Given the description of an element on the screen output the (x, y) to click on. 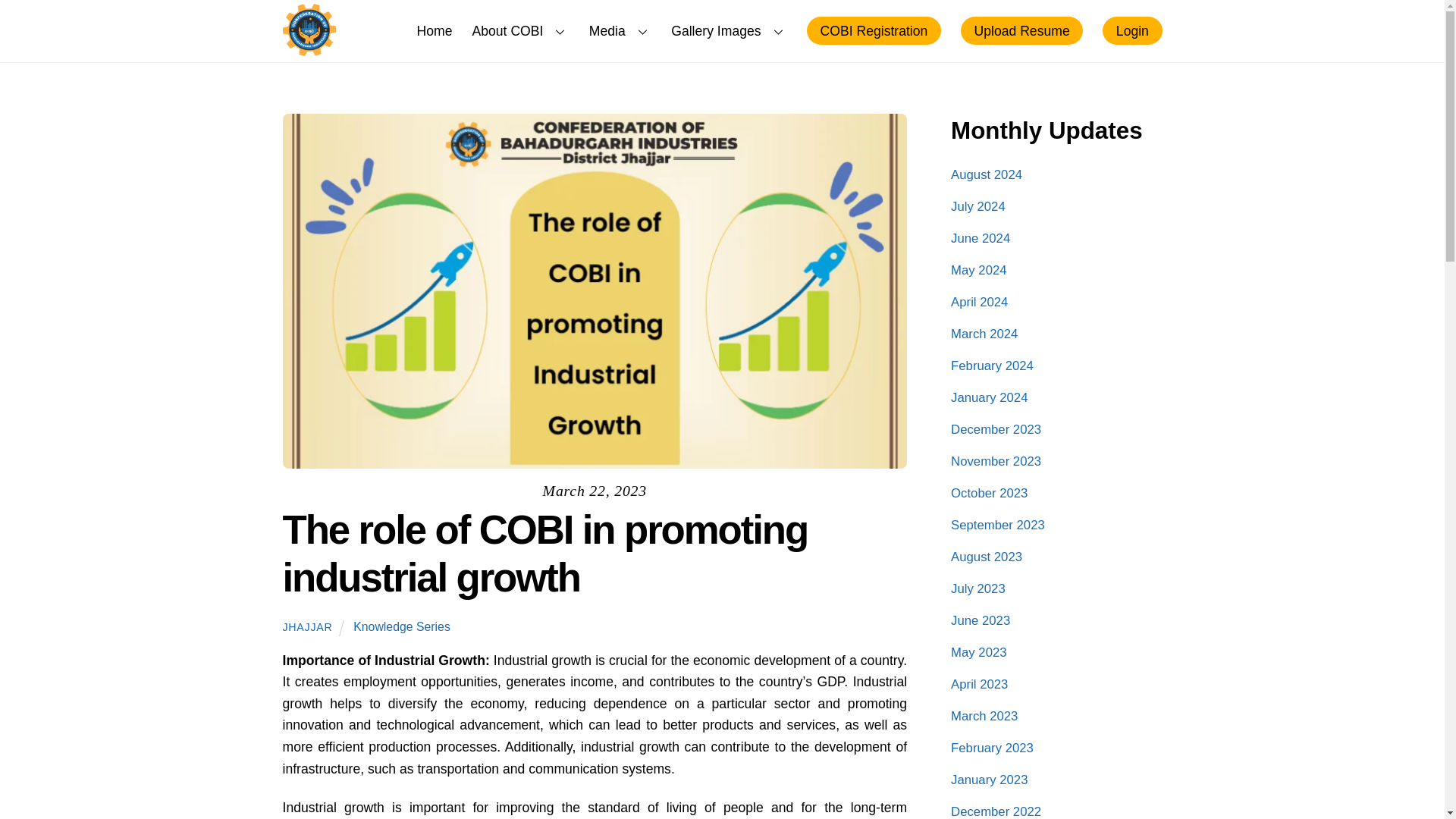
Home (434, 30)
Knowledge Series (401, 626)
Gallery Images (728, 30)
JHAJJAR (306, 626)
About COBI (520, 30)
Media (619, 30)
Upload Resume (1021, 30)
COBI Registration (873, 30)
Login (1131, 30)
The role of COBI in promoting industrial growth (545, 552)
